Given the description of an element on the screen output the (x, y) to click on. 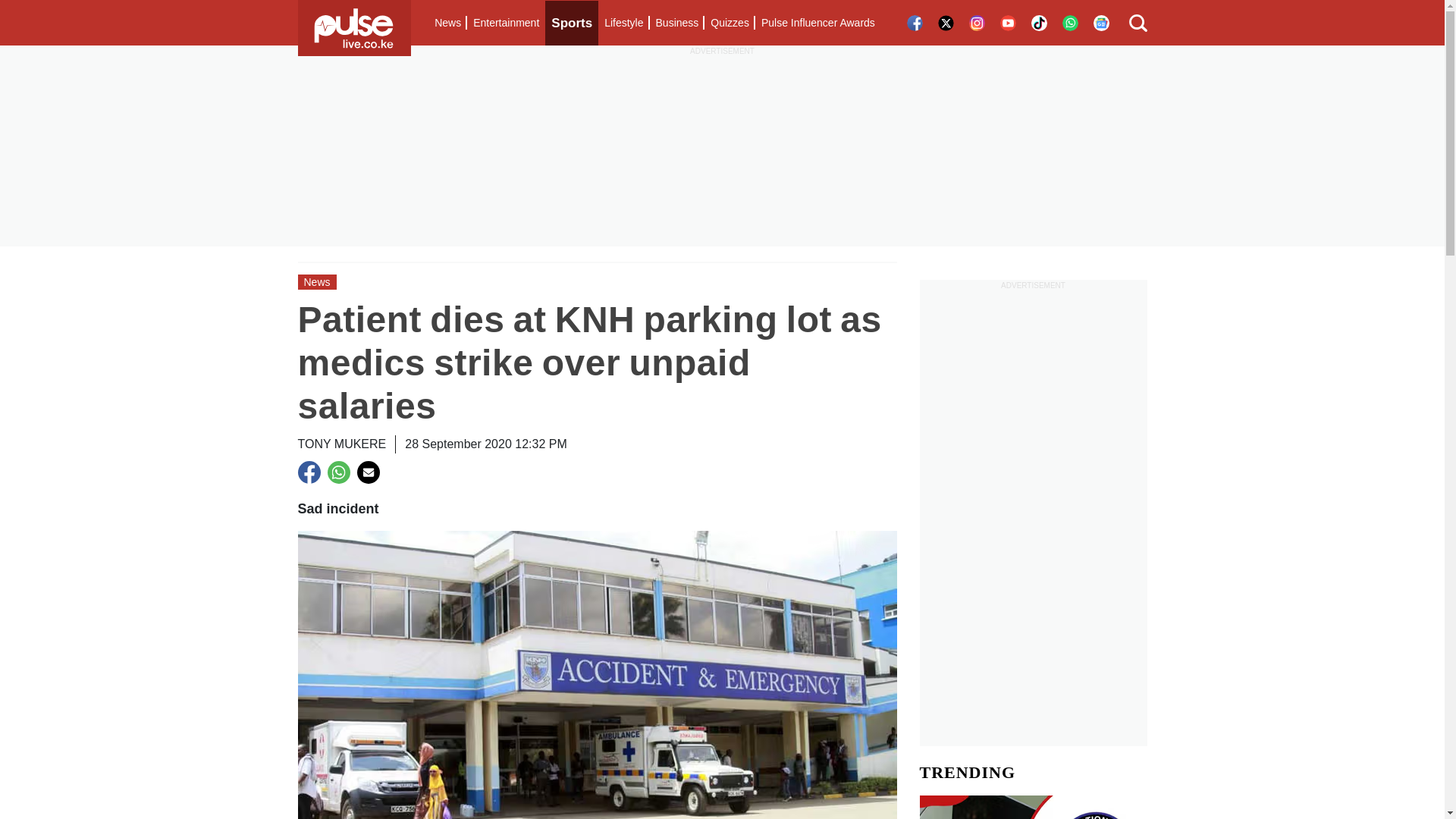
Pulse Influencer Awards (817, 22)
Entertainment (505, 22)
Quizzes (729, 22)
Sports (571, 22)
Lifestyle (623, 22)
Business (676, 22)
